Given the description of an element on the screen output the (x, y) to click on. 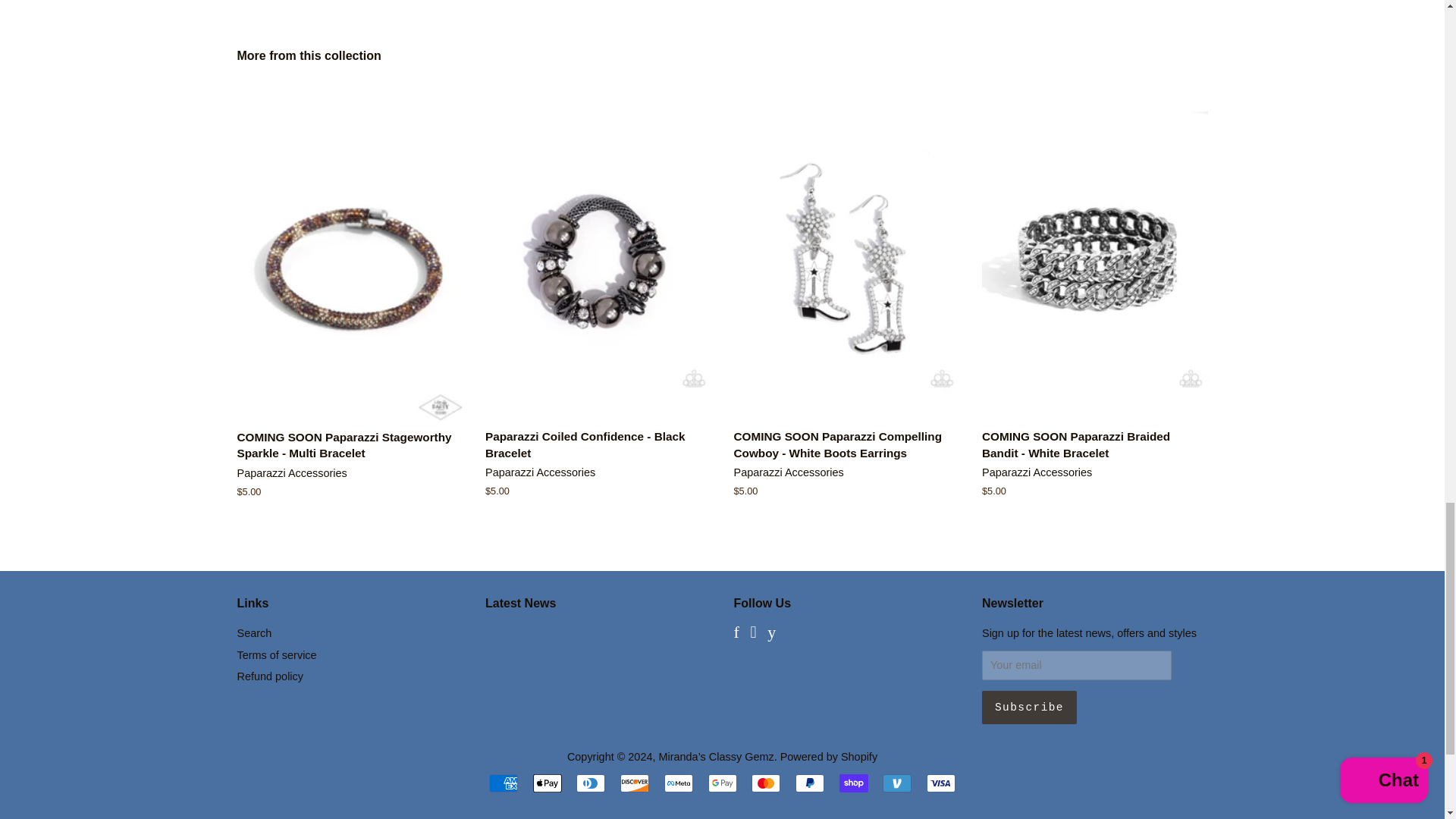
PayPal (809, 782)
Mastercard (765, 782)
Shop Pay (853, 782)
Meta Pay (678, 782)
Venmo (896, 782)
Discover (634, 782)
Google Pay (721, 782)
Apple Pay (547, 782)
American Express (503, 782)
Diners Club (590, 782)
Subscribe (1029, 707)
Visa (940, 782)
